Given the description of an element on the screen output the (x, y) to click on. 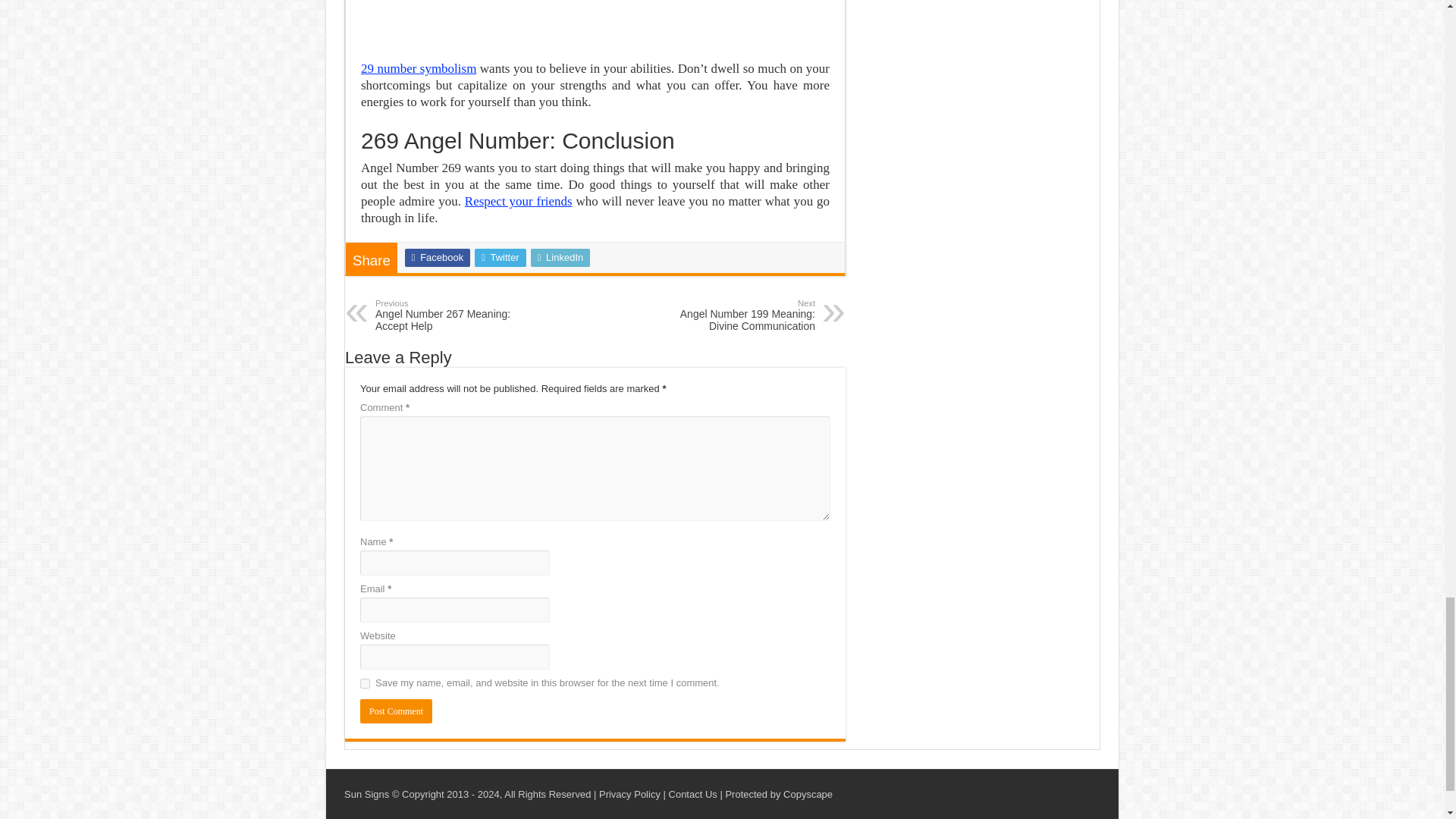
LinkedIn (561, 257)
Respect your friends (518, 201)
Advertisement (595, 22)
Facebook (437, 257)
Twitter (499, 257)
29 number symbolism (453, 315)
yes (418, 68)
Post Comment (364, 683)
